Given the description of an element on the screen output the (x, y) to click on. 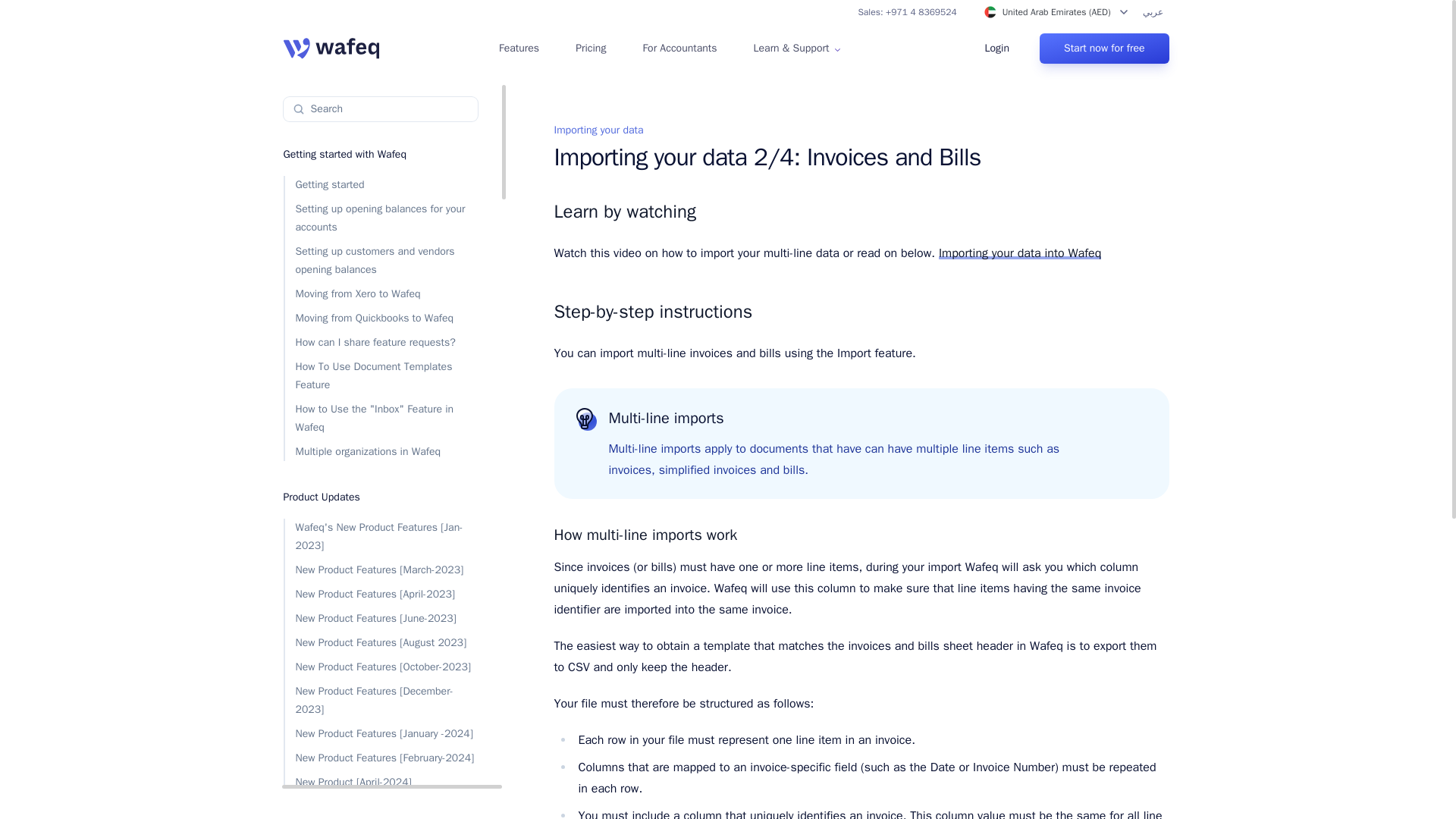
Getting started (381, 185)
Start now for free (1104, 48)
Search (380, 109)
Moving from Quickbooks to Wafeq (381, 318)
Setting up customers and vendors opening balances (381, 260)
Features (518, 48)
Setting up opening balances for your accounts (381, 217)
Pricing (590, 48)
Moving from Xero to Wafeq (381, 294)
How To Use Document Templates Feature (381, 375)
How to Use the "Inbox" Feature in Wafeq (381, 418)
Login (996, 48)
For Accountants (679, 48)
How can I share feature requests? (381, 342)
Multiple organizations in Wafeq (381, 452)
